Given the description of an element on the screen output the (x, y) to click on. 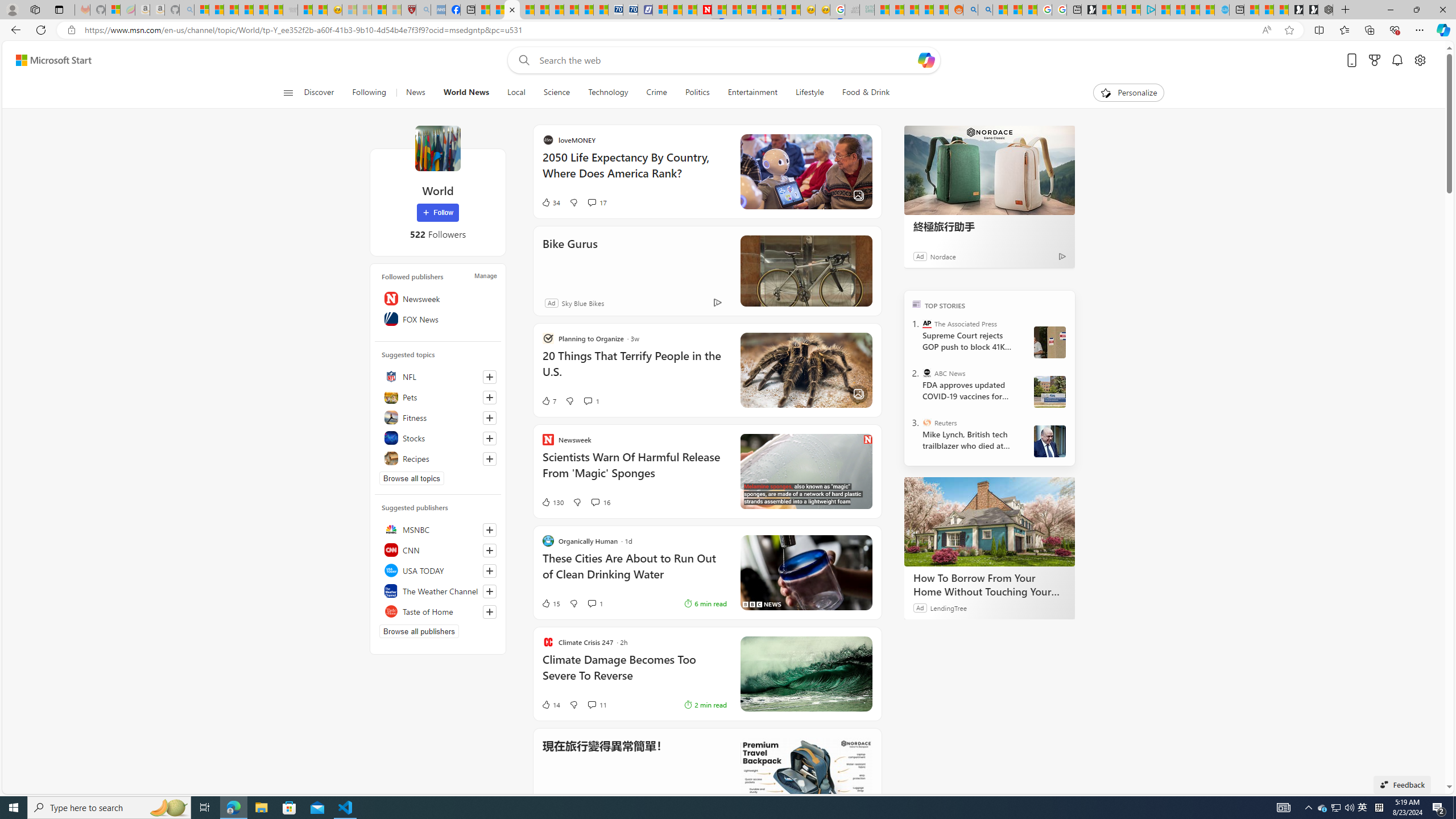
TOP (916, 302)
The Weather Channel - MSN (230, 9)
Newsweek - News, Analysis, Politics, Business, Technology (703, 9)
View comments 16 Comment (594, 501)
